Given the description of an element on the screen output the (x, y) to click on. 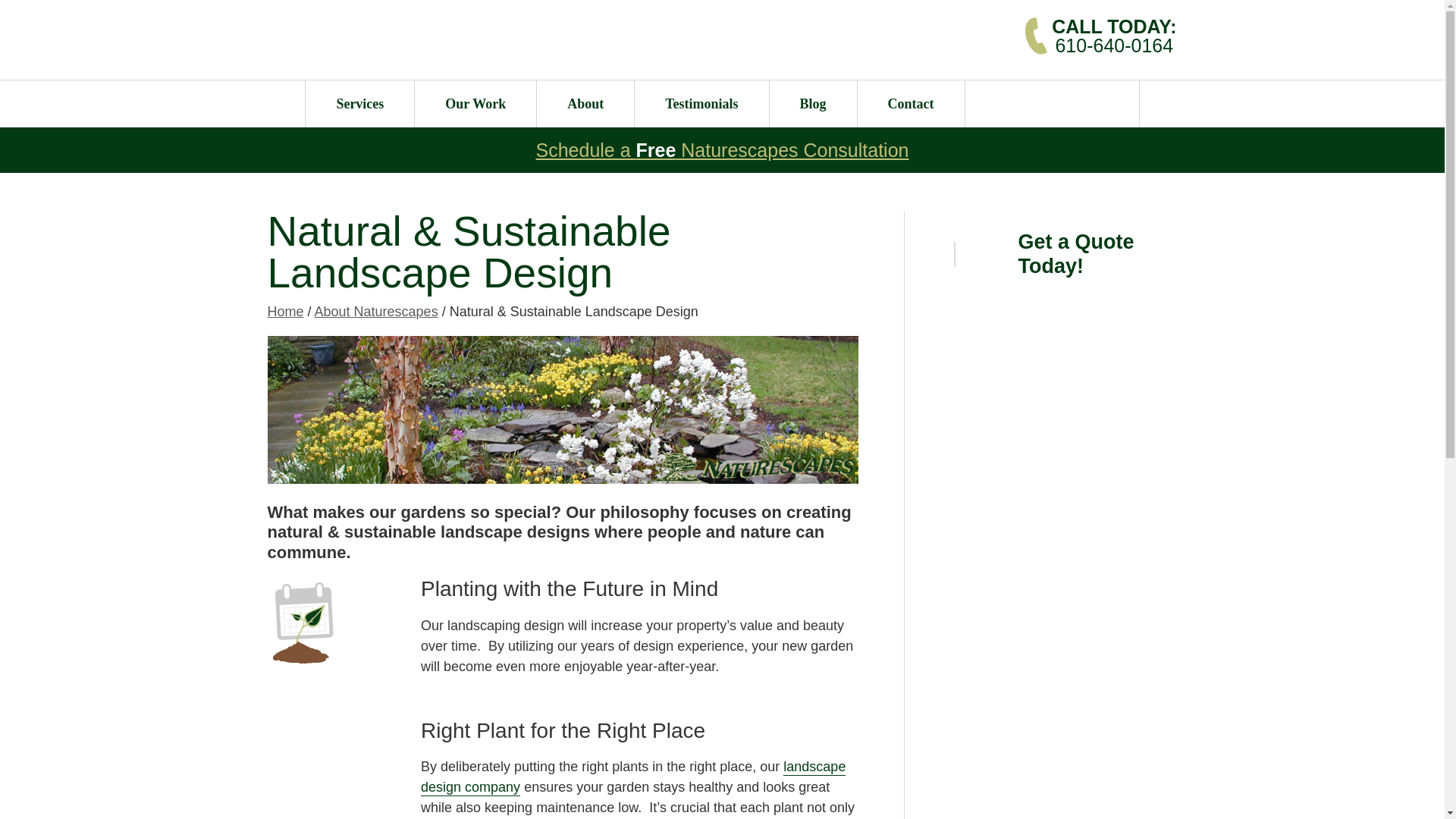
About Naturescapes (376, 311)
Blog (813, 103)
Contact (910, 103)
Schedule a Free Naturescapes Consultation (721, 149)
Services (359, 103)
landscape design company (632, 777)
Home (1113, 35)
Testimonials (284, 311)
About (701, 103)
